Given the description of an element on the screen output the (x, y) to click on. 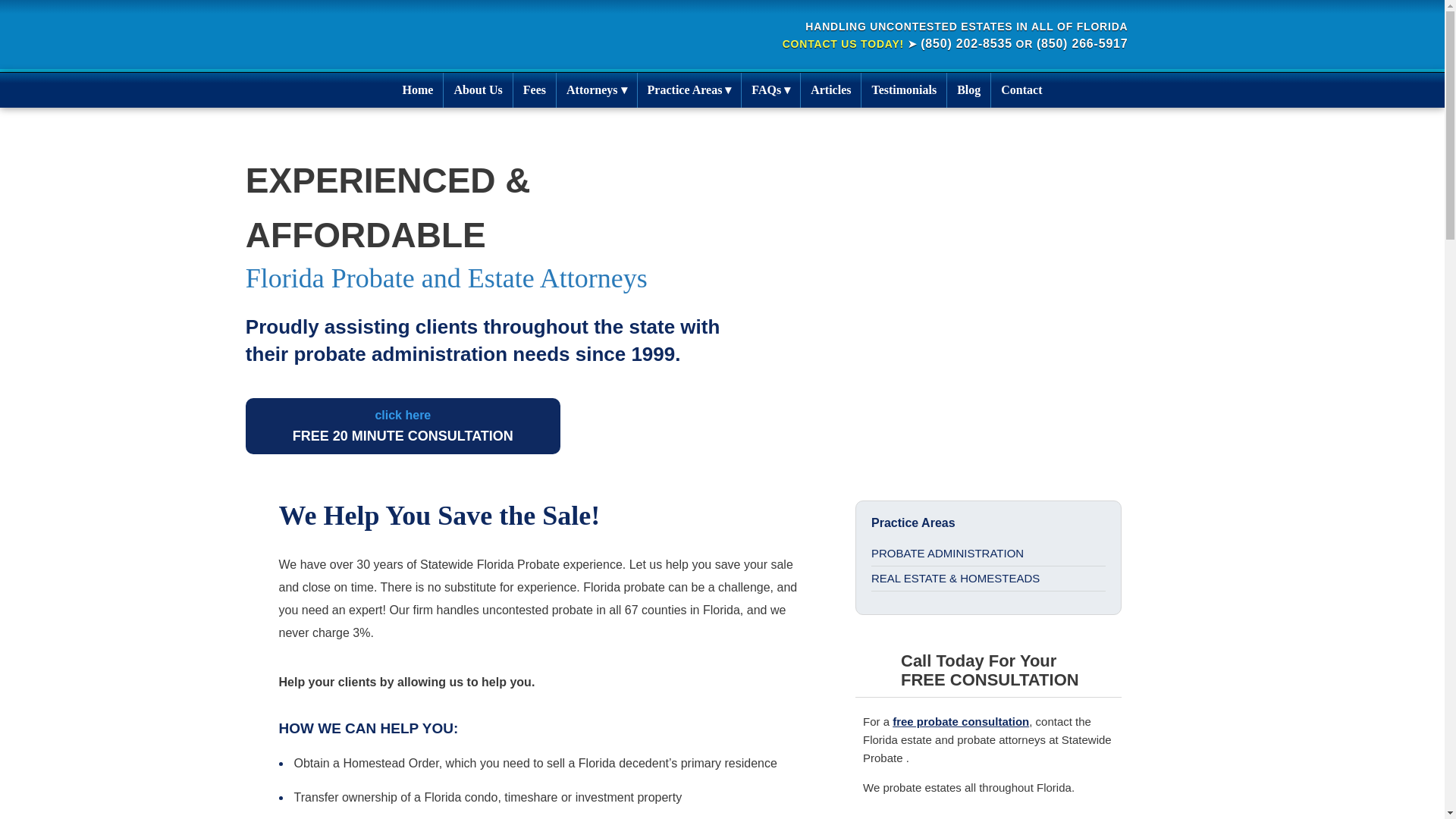
Articles (830, 89)
free probate consultation (960, 721)
Statewide Probate (408, 26)
Blog (968, 89)
Home (418, 89)
PROBATE ADMINISTRATION (987, 553)
About Us (403, 426)
Contact (478, 89)
Fees (1021, 89)
Testimonials (534, 89)
